Given the description of an element on the screen output the (x, y) to click on. 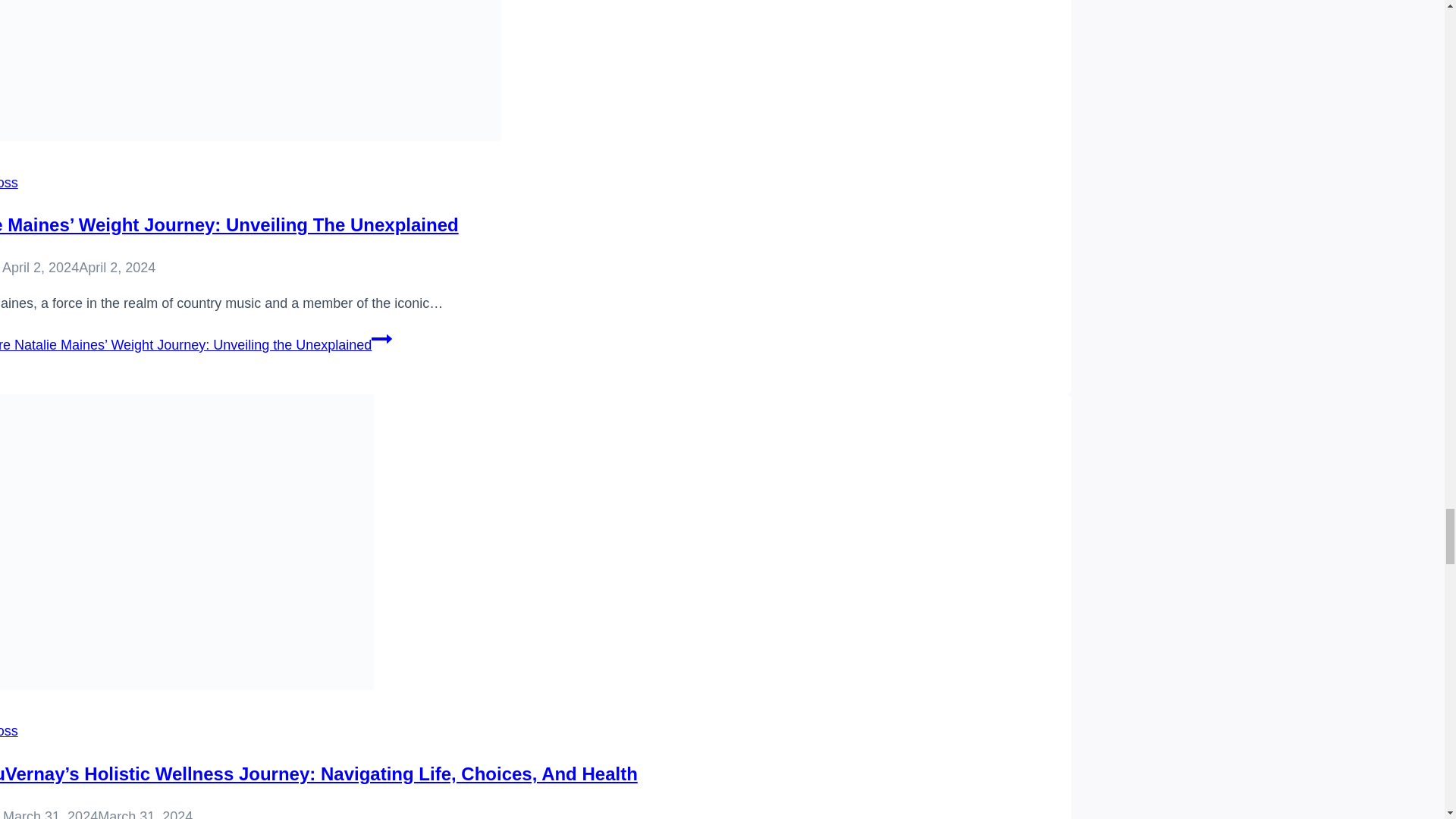
Weight Loss (8, 181)
Weight Loss (8, 730)
